Given the description of an element on the screen output the (x, y) to click on. 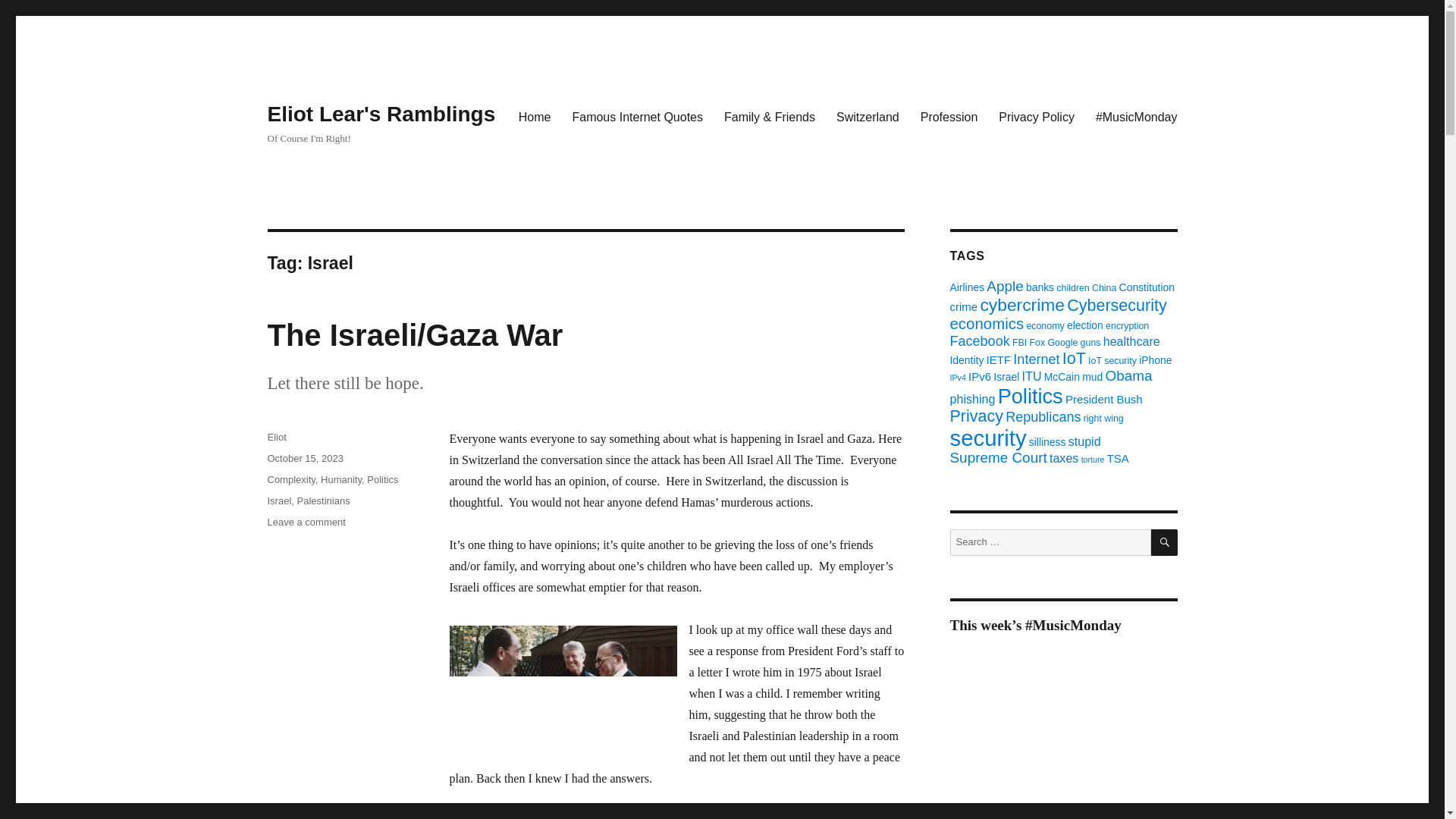
Switzerland (867, 116)
Israel (278, 500)
Privacy Policy (1036, 116)
Home (535, 116)
October 15, 2023 (304, 458)
Eliot (275, 437)
Profession (949, 116)
Complexity (290, 479)
Palestinians (323, 500)
Politics (381, 479)
